Given the description of an element on the screen output the (x, y) to click on. 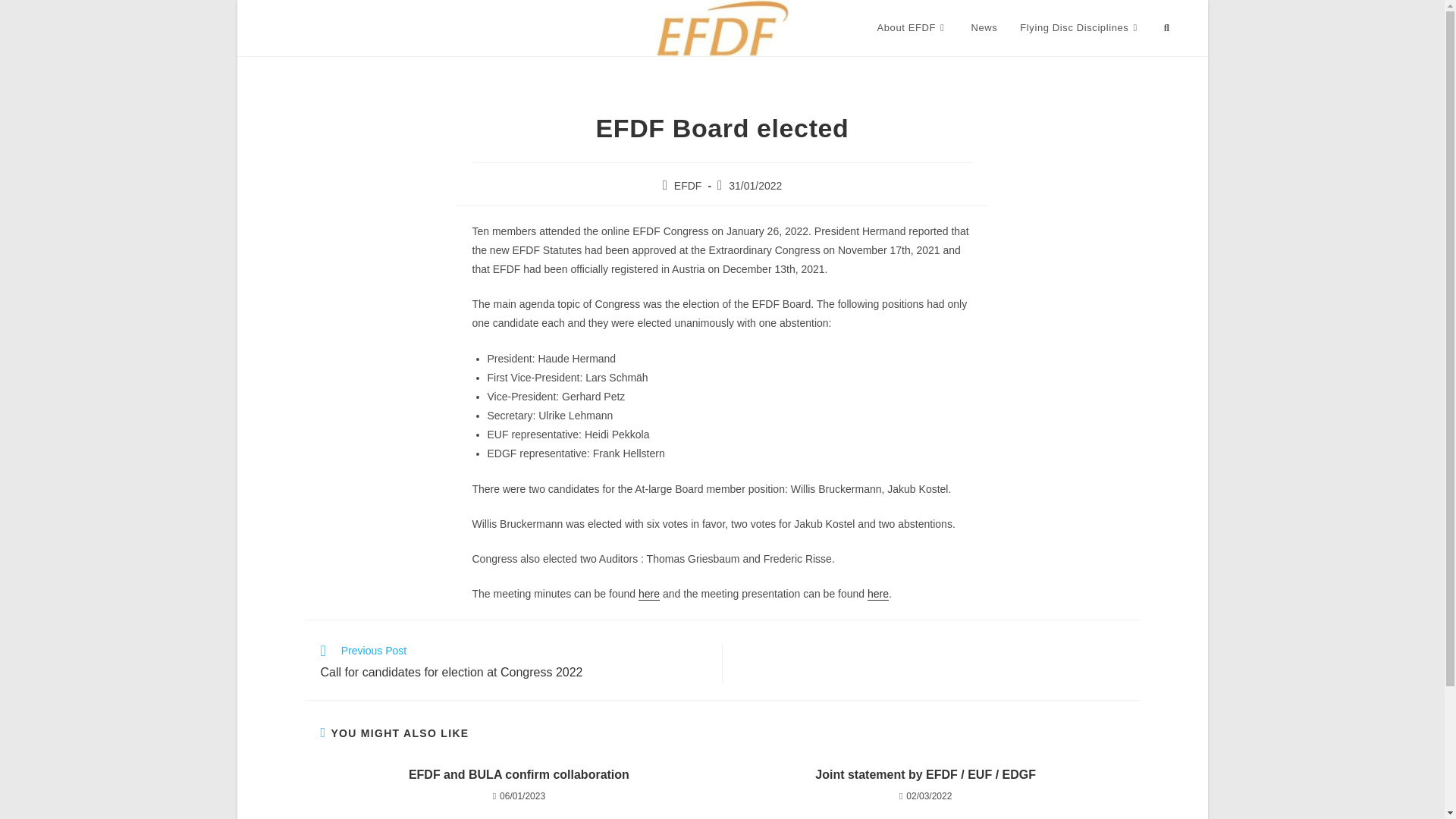
Posts by EFDF (687, 185)
About EFDF (912, 28)
here (877, 593)
here (649, 593)
EFDF (687, 185)
Flying Disc Disciplines (1080, 28)
